Given the description of an element on the screen output the (x, y) to click on. 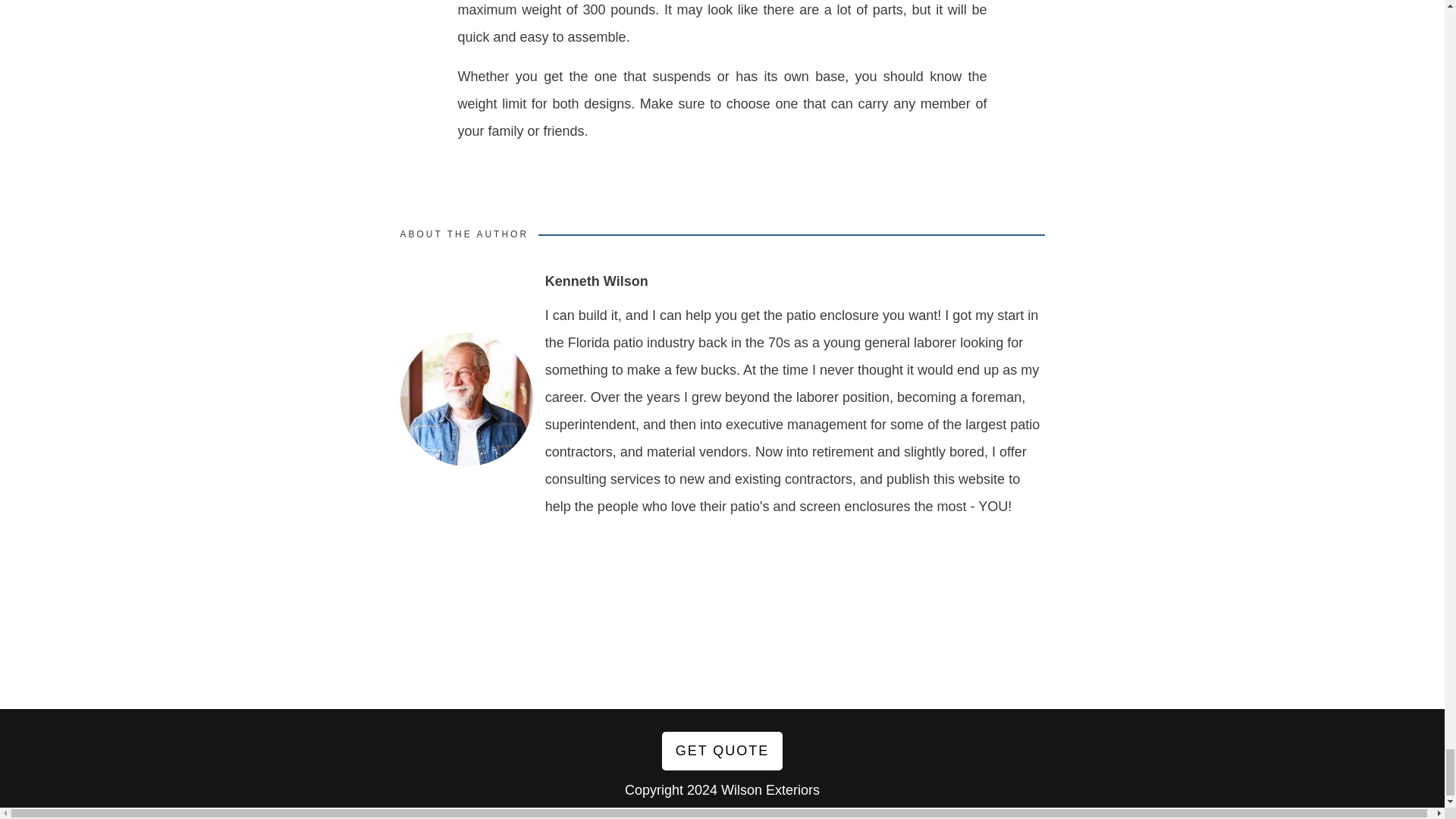
Kenneth Wilson (595, 281)
GET QUOTE (722, 751)
